Given the description of an element on the screen output the (x, y) to click on. 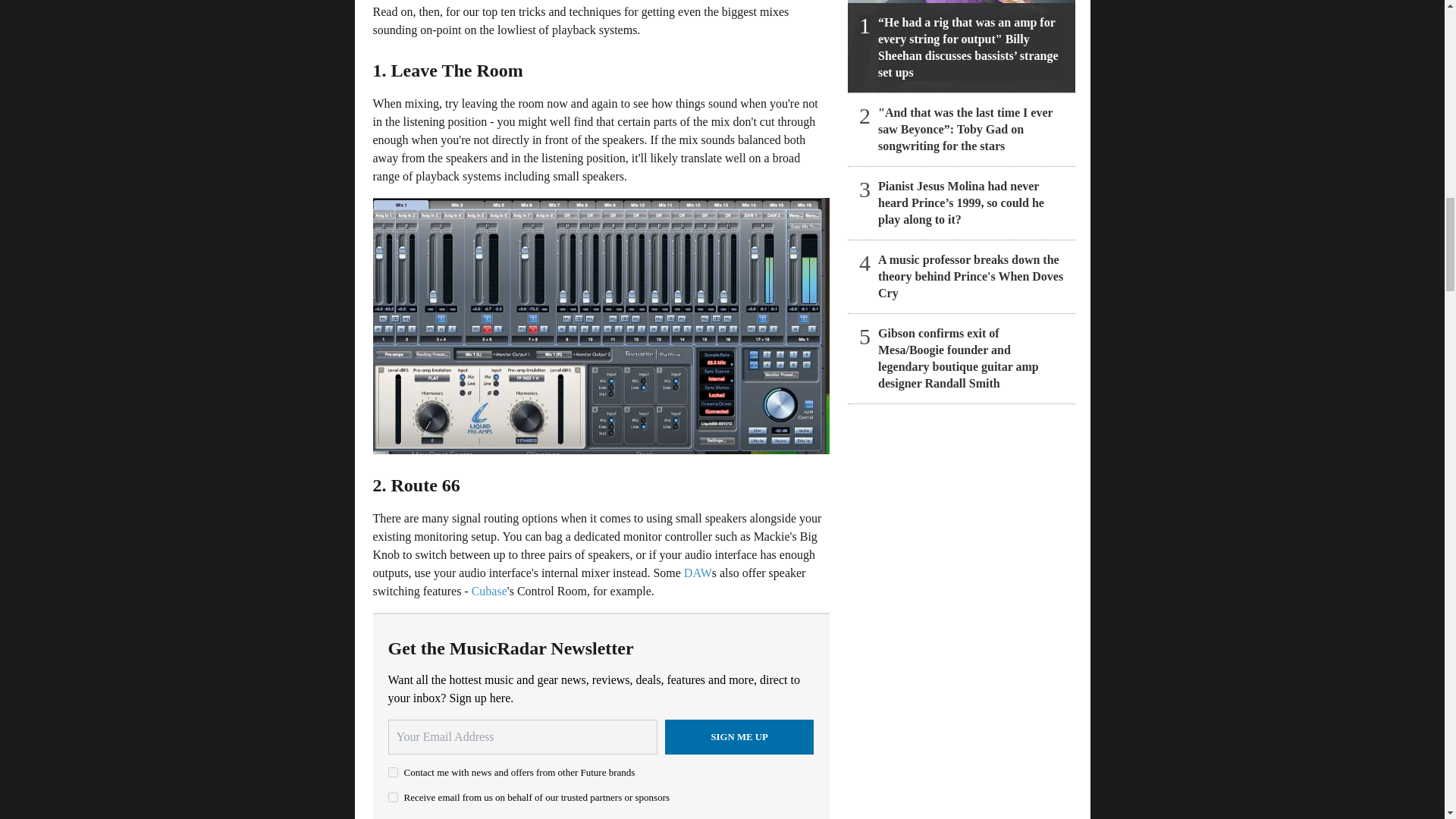
on (392, 772)
Sign me up (739, 736)
on (392, 797)
